Given the description of an element on the screen output the (x, y) to click on. 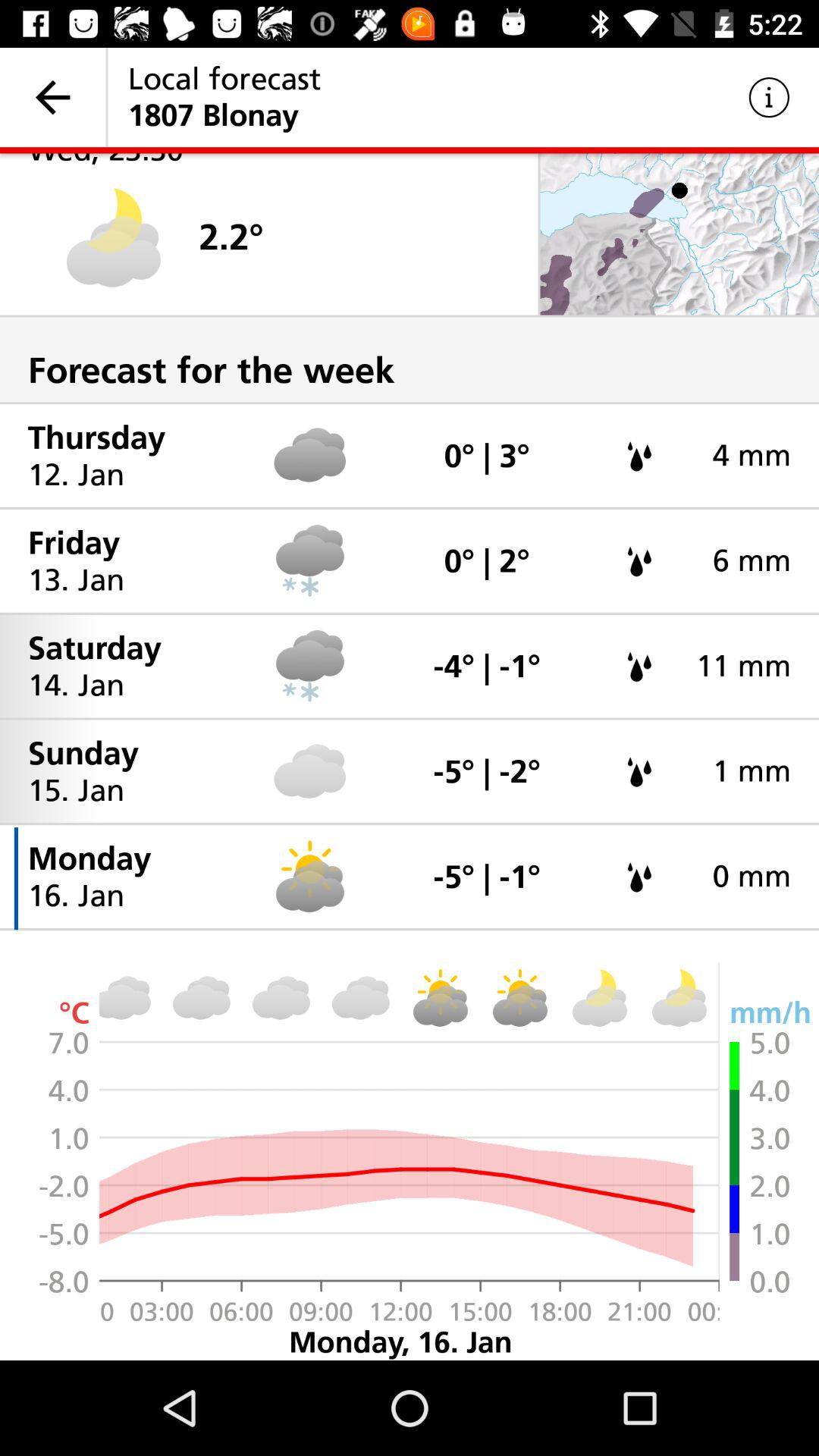
select the image which is on the top right side of the page (679, 234)
select the image on left to the text 0 mm on the web page (639, 877)
